Given the description of an element on the screen output the (x, y) to click on. 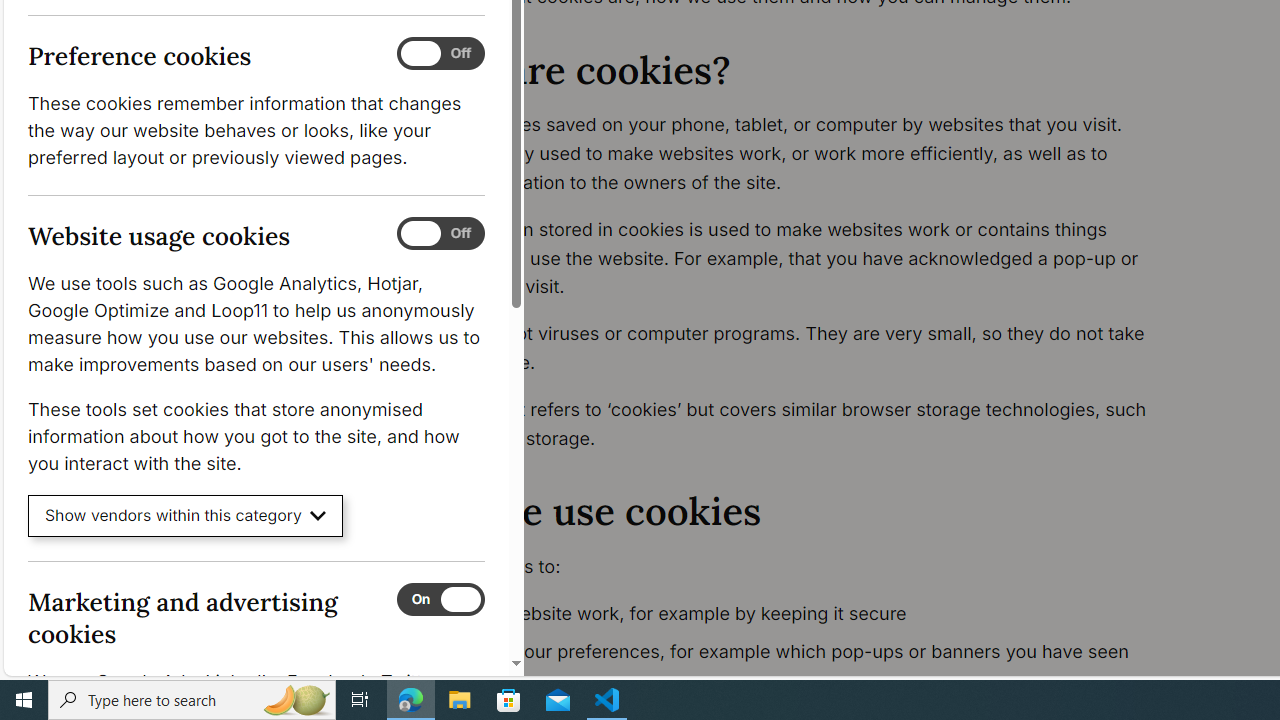
Preference cookies (440, 53)
Marketing and advertising cookies (440, 599)
Website usage cookies (440, 233)
make our website work, for example by keeping it secure (796, 614)
Show vendors within this category (185, 516)
